Given the description of an element on the screen output the (x, y) to click on. 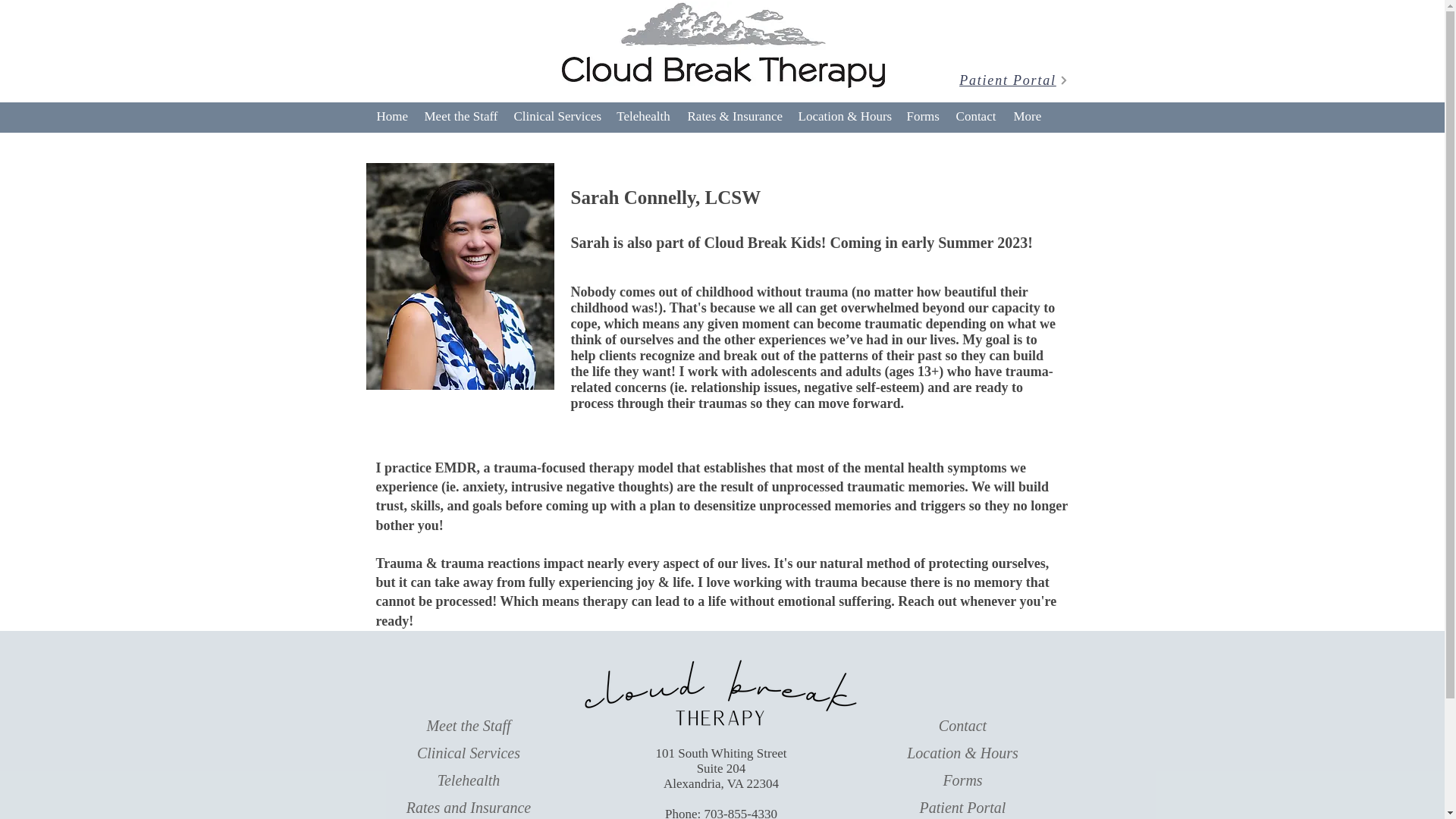
Forms (961, 780)
Contact (963, 725)
Telehealth (469, 780)
Rates and Insurance (468, 807)
Meet the Staff (459, 116)
Forms (922, 116)
Contact (975, 116)
Meet the Staff (468, 725)
Patient Portal (1012, 80)
Clinical Services (467, 752)
Patient Portal (963, 807)
Clinical Services (556, 116)
Telehealth (643, 116)
Home (392, 116)
